Given the description of an element on the screen output the (x, y) to click on. 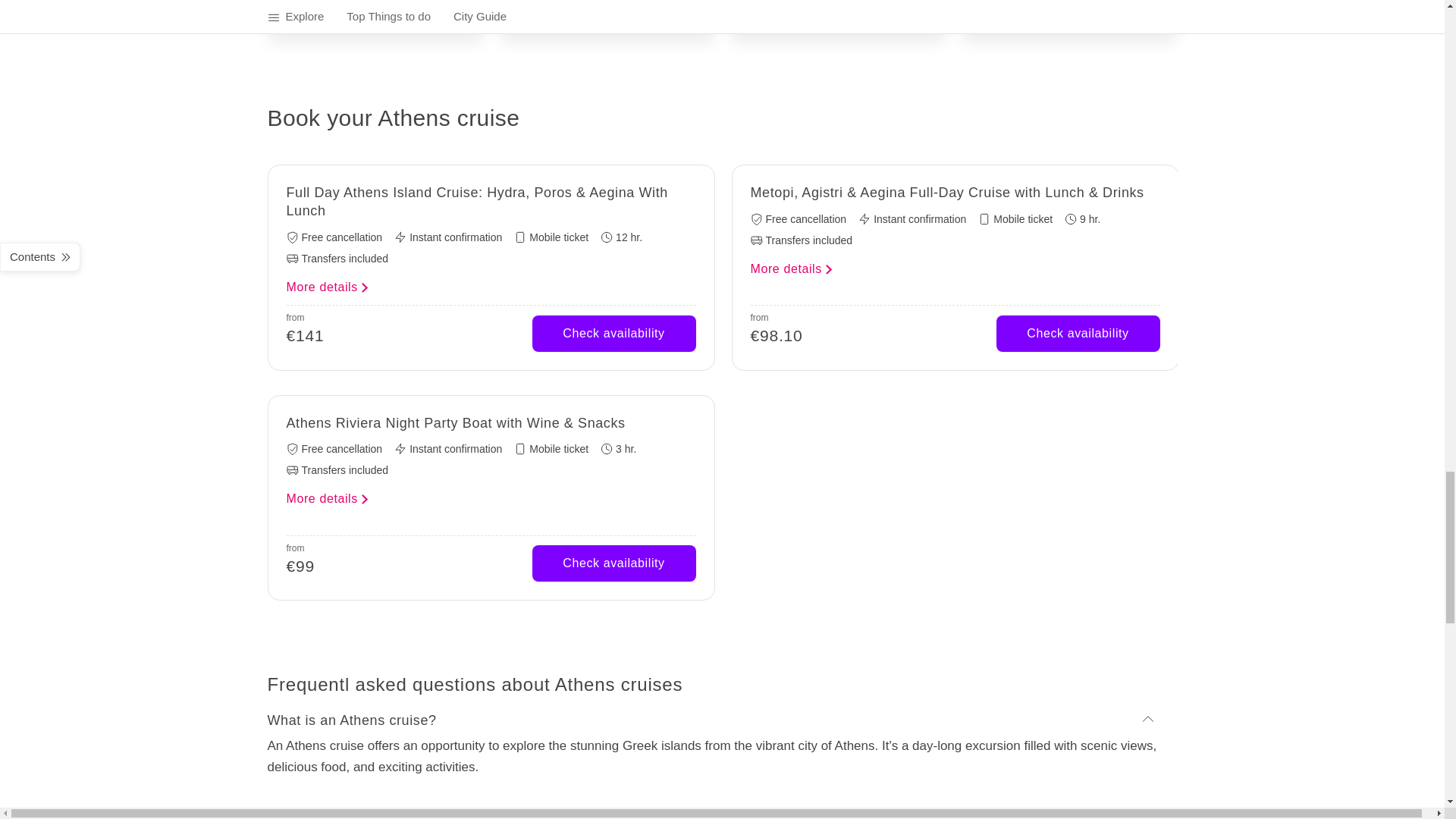
Check availability (613, 333)
Check availability (613, 563)
Check availability (1077, 333)
